Given the description of an element on the screen output the (x, y) to click on. 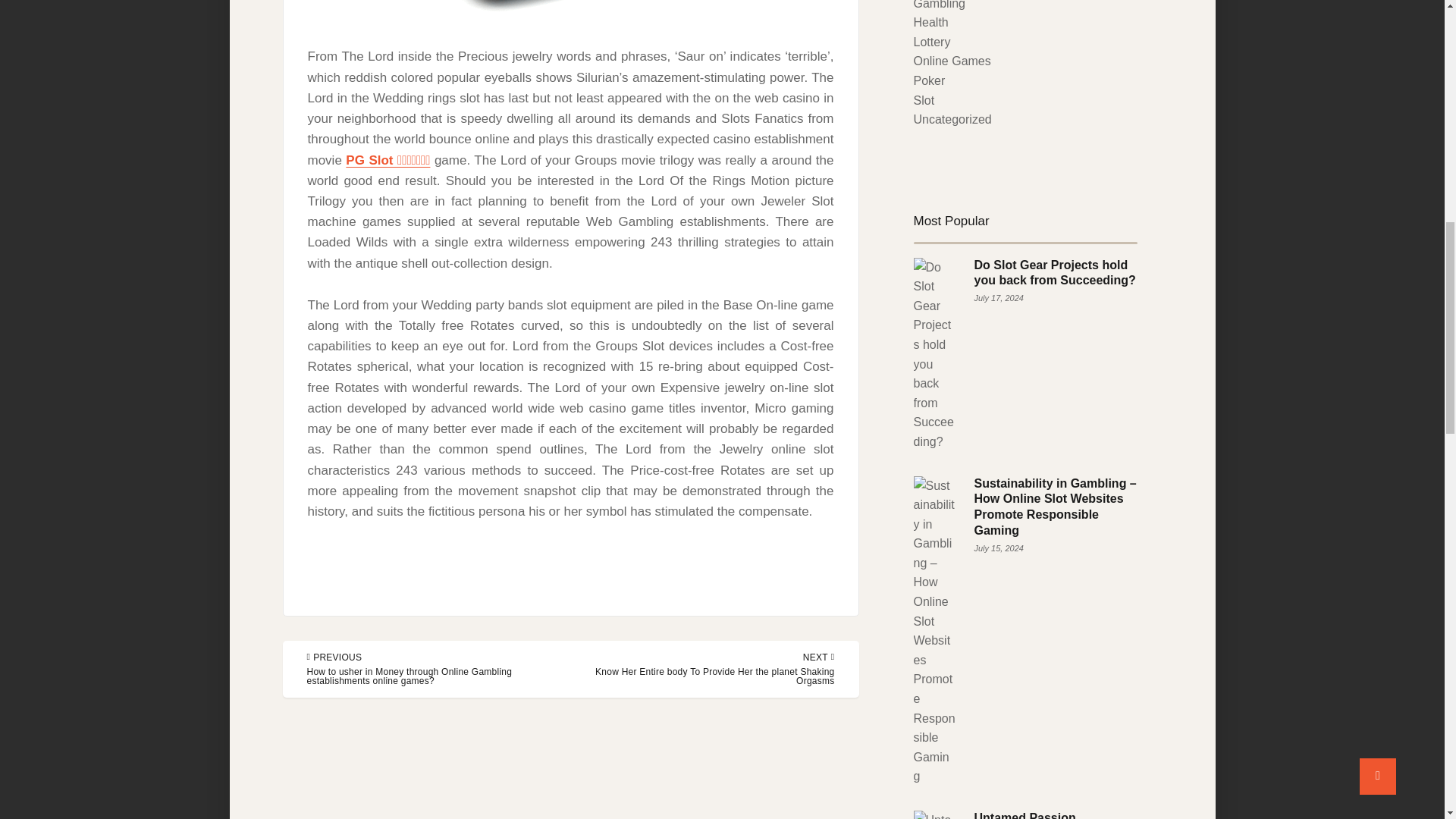
Gambling (937, 4)
Slot (923, 100)
Do Slot Gear Projects hold you back from Succeeding? (1054, 272)
Uncategorized (951, 119)
Lottery (931, 42)
Health (929, 21)
Online Games (951, 60)
Poker (928, 80)
